Given the description of an element on the screen output the (x, y) to click on. 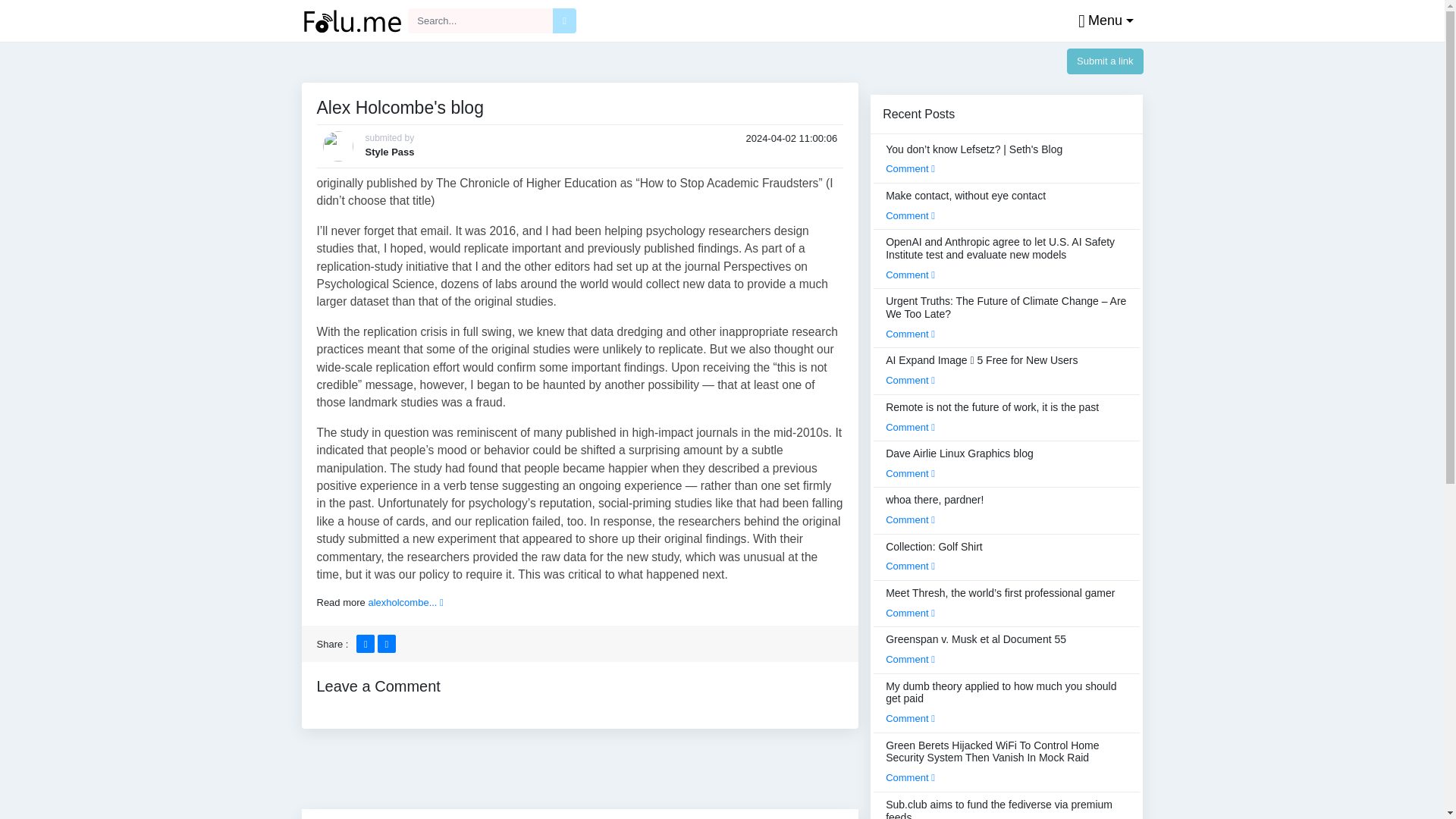
Menu (1101, 20)
alexholcombe... (405, 602)
Submit a link (1104, 61)
